Given the description of an element on the screen output the (x, y) to click on. 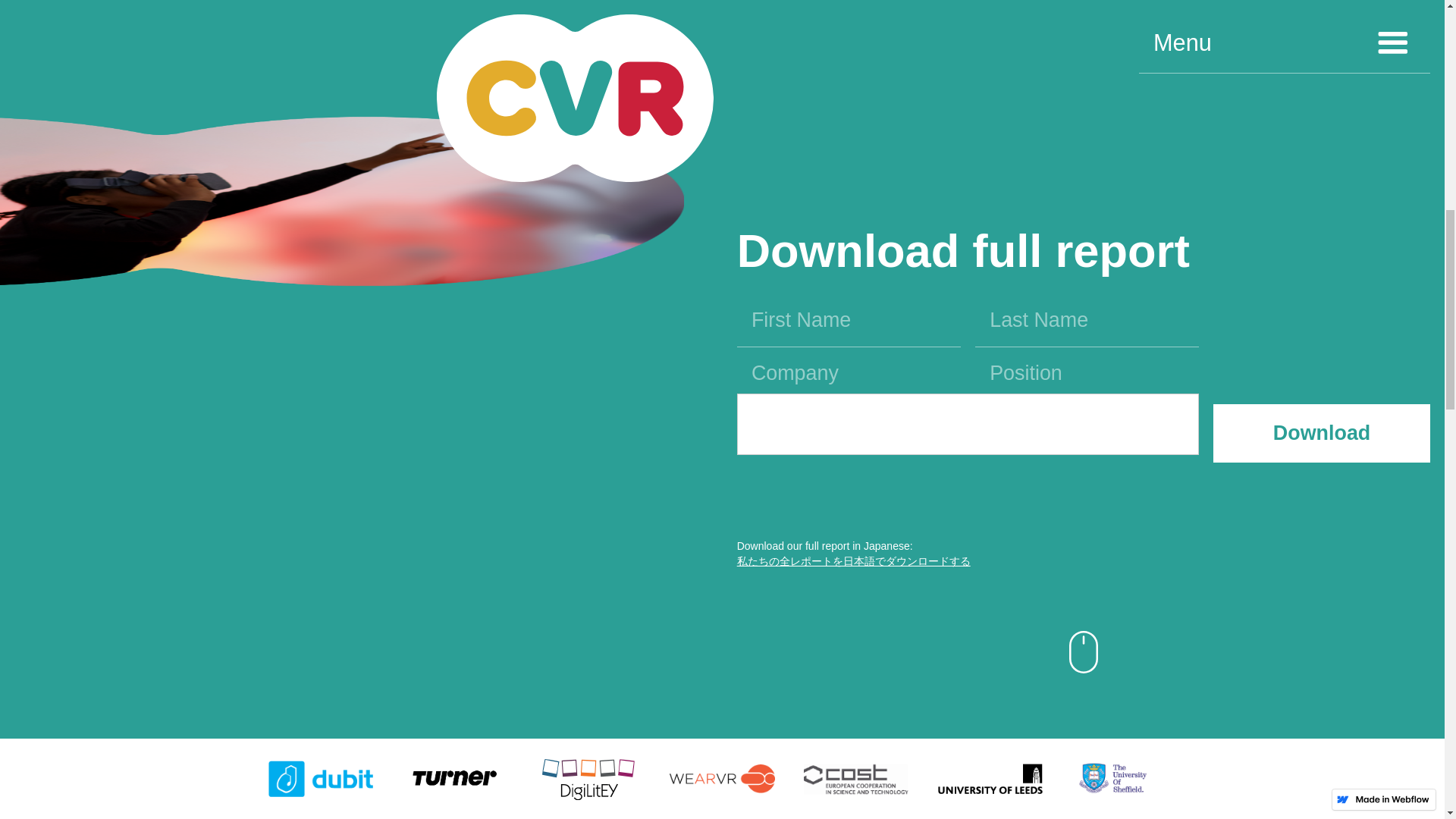
Download (1320, 433)
Download (1320, 433)
